Given the description of an element on the screen output the (x, y) to click on. 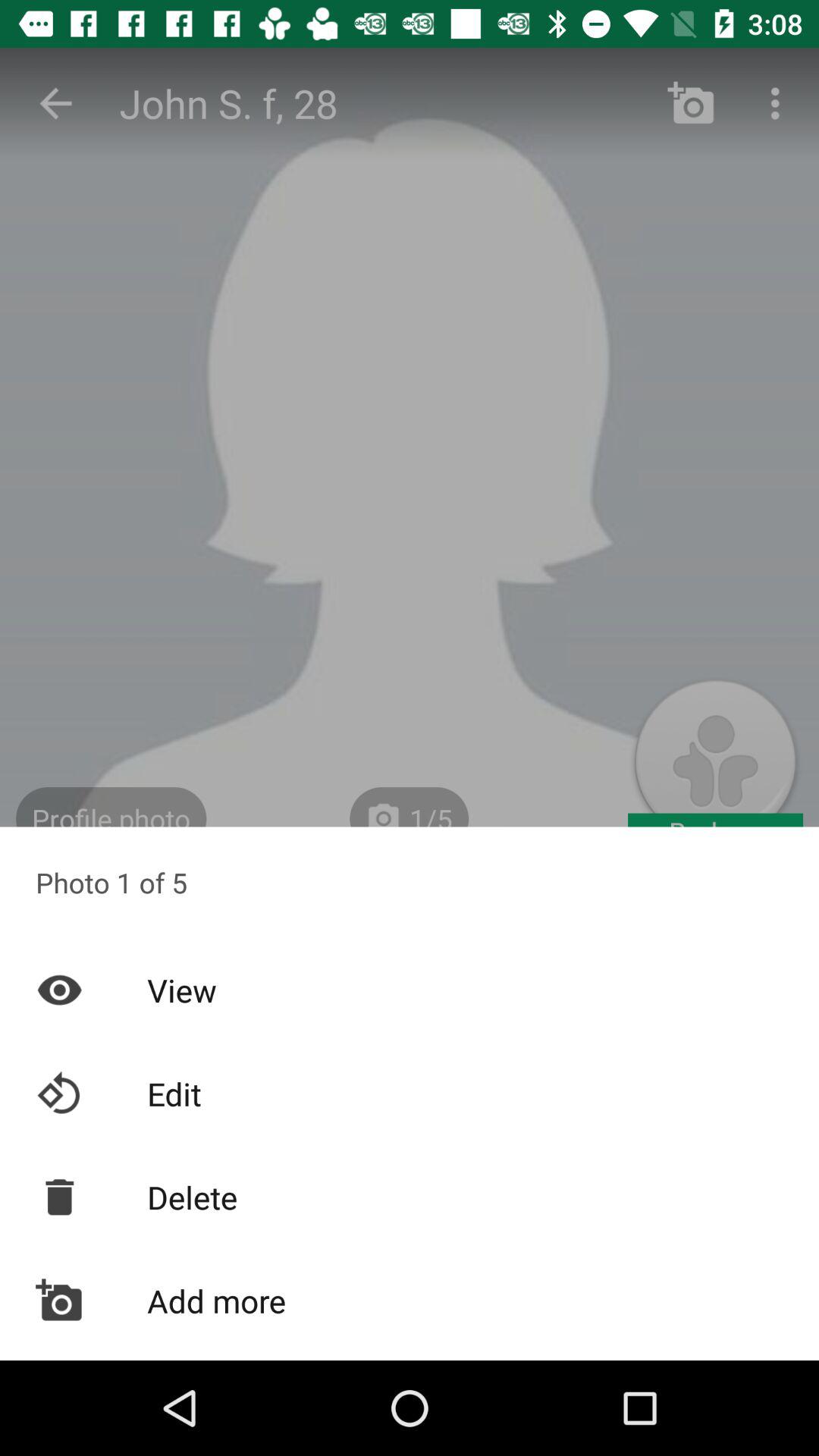
choose edit item (409, 1093)
